Given the description of an element on the screen output the (x, y) to click on. 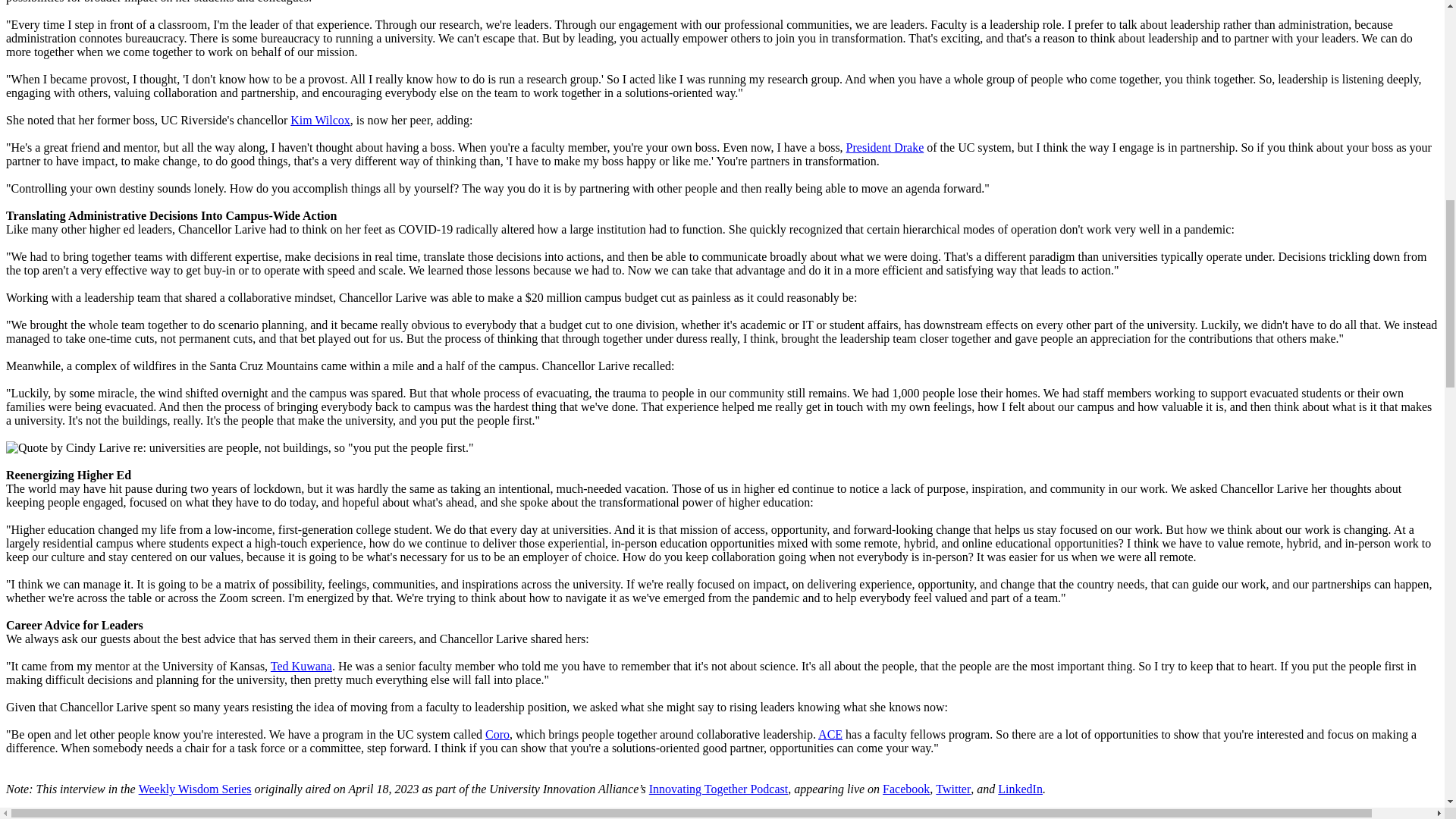
Kim Wilcox (319, 119)
Coro (496, 734)
ACE (830, 734)
President Drake (884, 146)
Weekly Wisdom Series (194, 788)
Ted Kuwana (300, 666)
Innovating Together Podcast (718, 788)
